Given the description of an element on the screen output the (x, y) to click on. 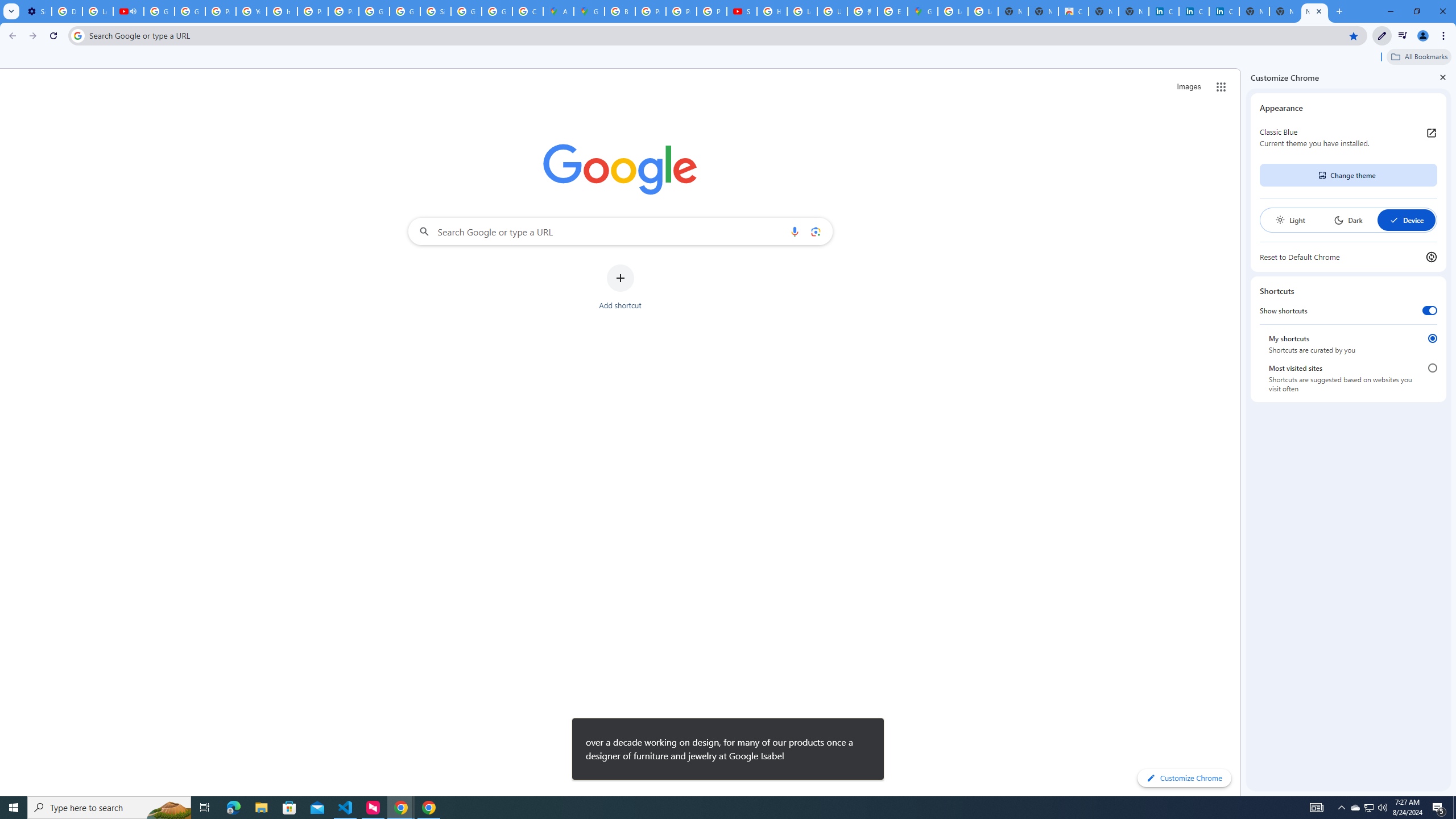
Most visited sites (1432, 367)
